Given the description of an element on the screen output the (x, y) to click on. 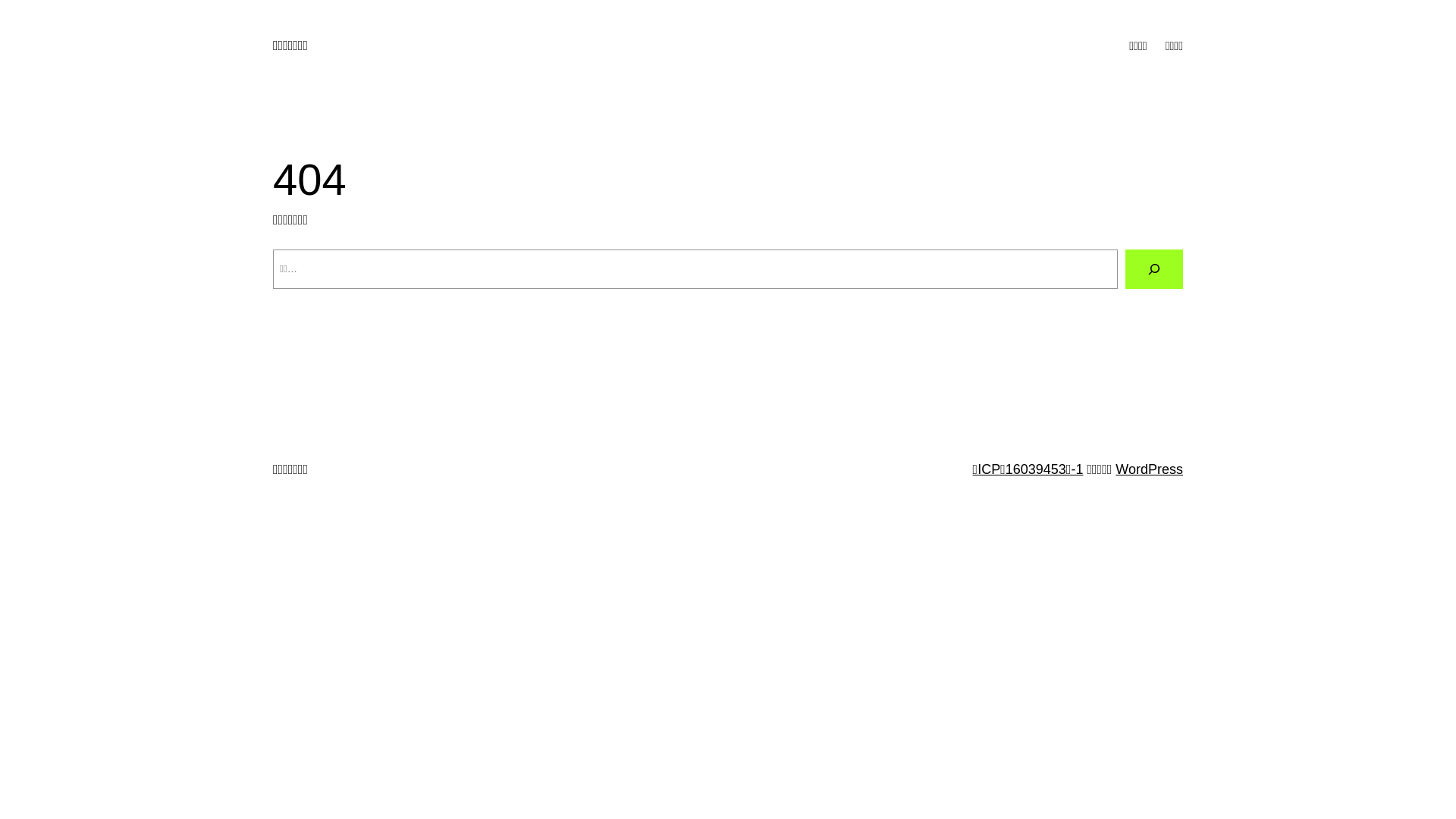
WordPress Element type: text (1149, 468)
